Given the description of an element on the screen output the (x, y) to click on. 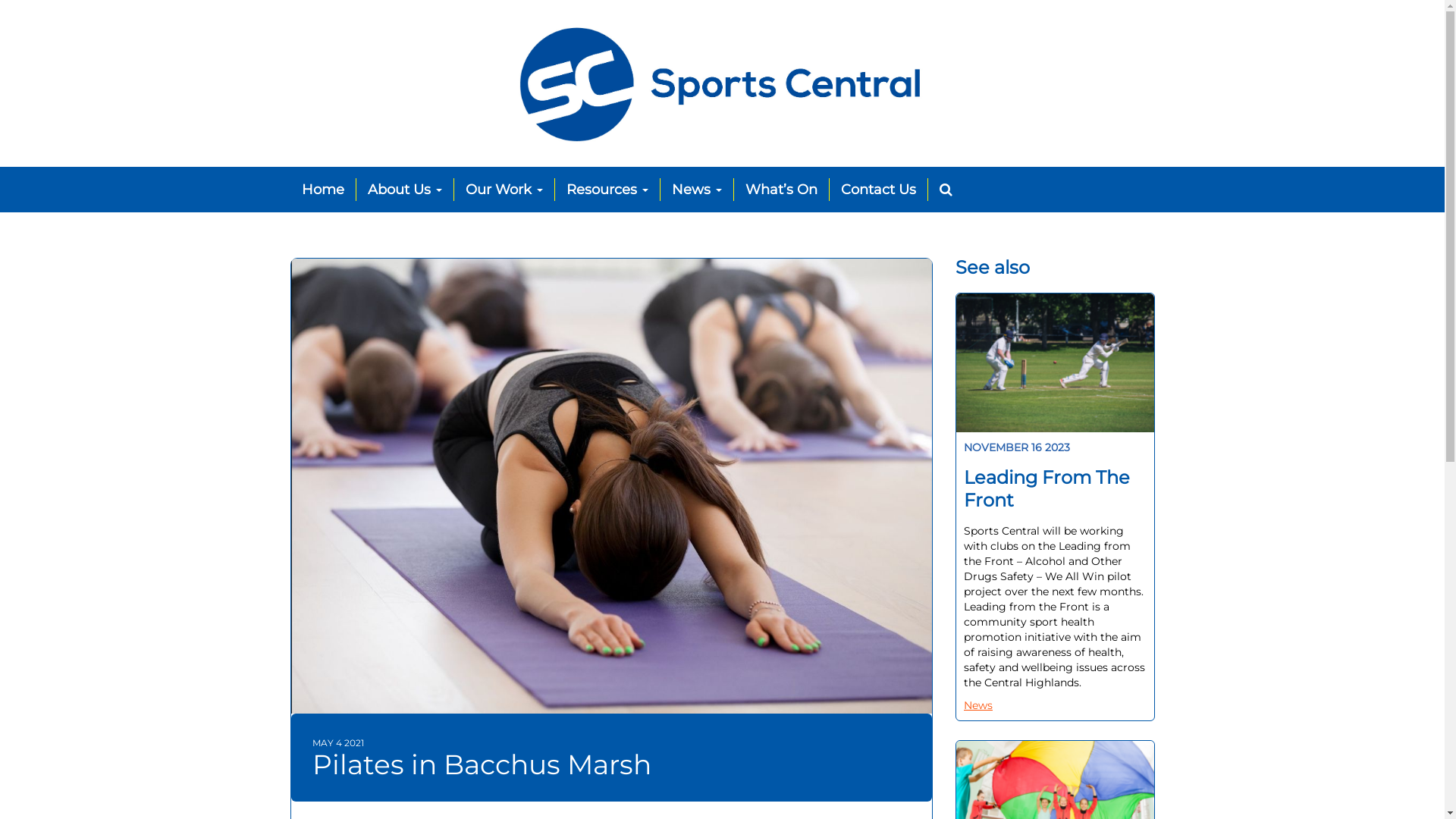
News Element type: text (696, 189)
Resources Element type: text (607, 189)
Our Work Element type: text (503, 189)
About Us Element type: text (405, 189)
Home Element type: text (328, 189)
News Element type: text (979, 705)
Contact Us Element type: text (878, 189)
Leading From The Front Element type: text (1054, 488)
